Given the description of an element on the screen output the (x, y) to click on. 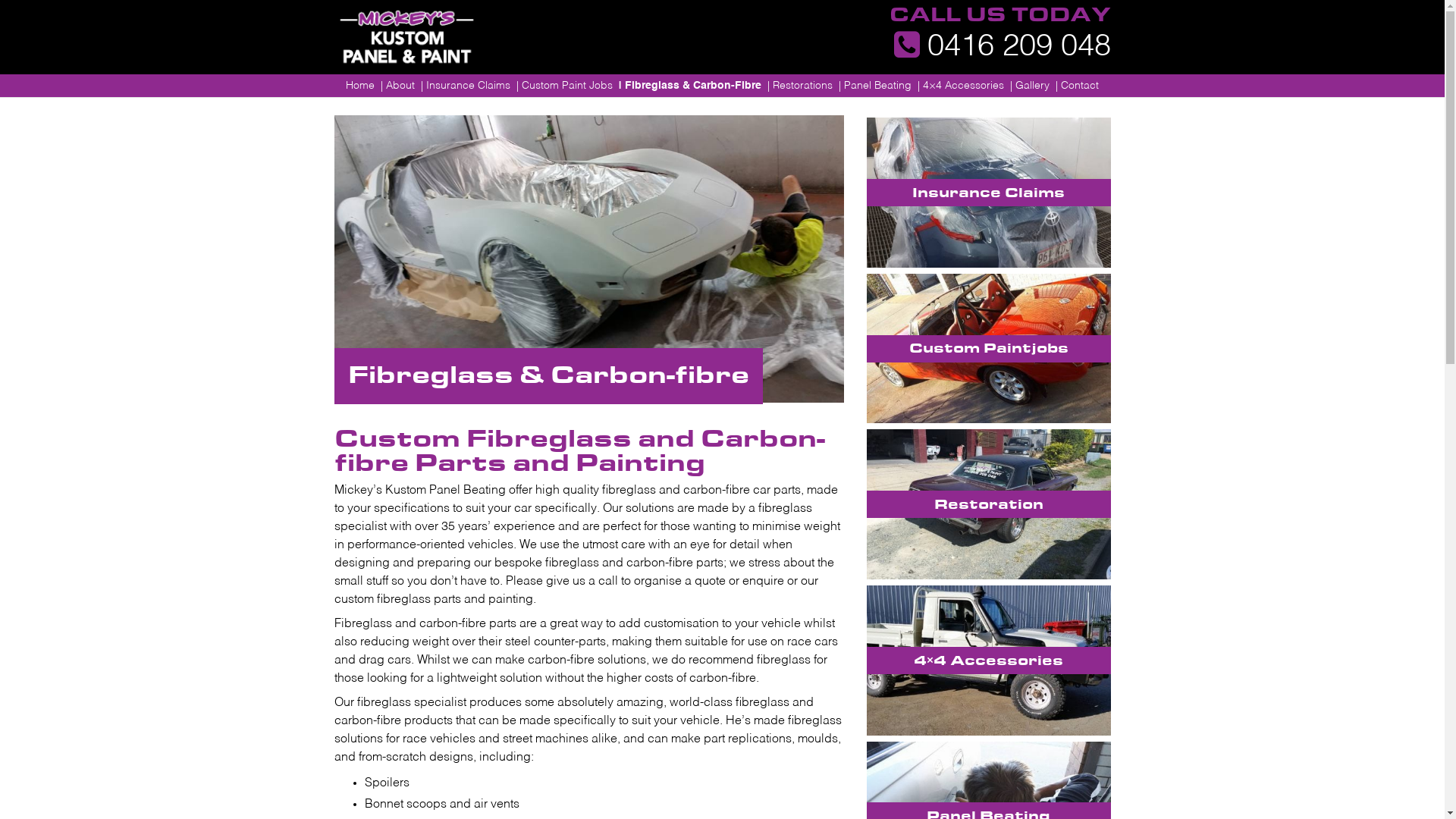
Contact Element type: text (1076, 86)
Restorations Element type: text (799, 86)
Custom Paintjobs Element type: text (988, 347)
Fibreglass & Carbon-Fibre Element type: text (689, 86)
Home Element type: text (359, 86)
Insurance Claims Element type: text (465, 86)
give us a call Element type: text (582, 580)
0416 209 048 Element type: text (1001, 46)
Insurance Claims Element type: text (988, 192)
Restoration Element type: text (988, 503)
Custom Paint Jobs Element type: text (564, 86)
Panel Beating Element type: text (874, 86)
Gallery Element type: text (1029, 86)
About Element type: text (397, 86)
